Given the description of an element on the screen output the (x, y) to click on. 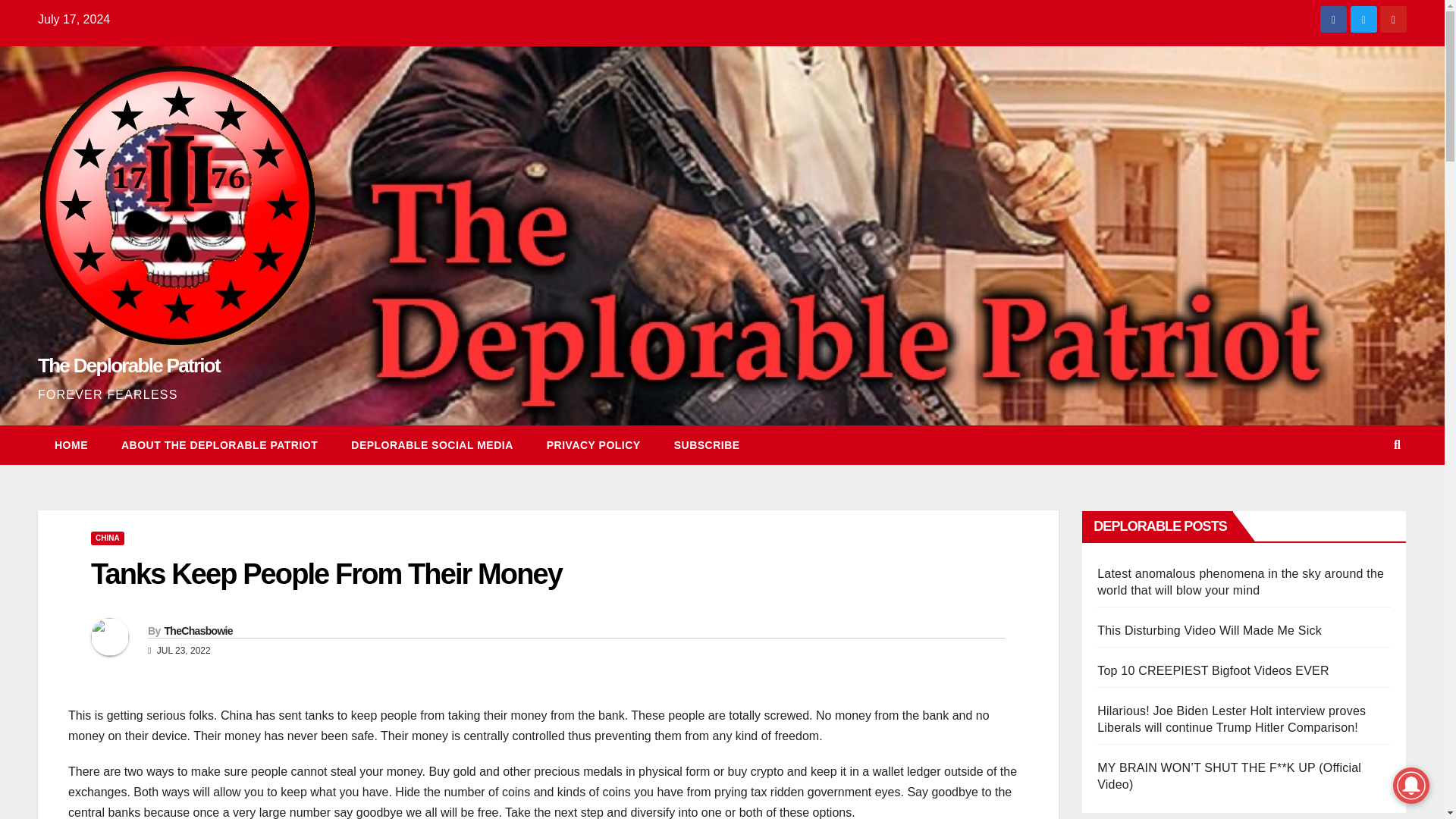
TheChasbowie (197, 630)
DEPLORABLE SOCIAL MEDIA (431, 445)
SUBSCRIBE (707, 445)
CHINA (106, 538)
Home (70, 445)
Tanks Keep People From Their Money (326, 573)
The Deplorable Patriot (128, 364)
HOME (70, 445)
ABOUT THE DEPLORABLE PATRIOT (219, 445)
Permalink to: Tanks Keep People From Their Money (326, 573)
PRIVACY POLICY (593, 445)
